Given the description of an element on the screen output the (x, y) to click on. 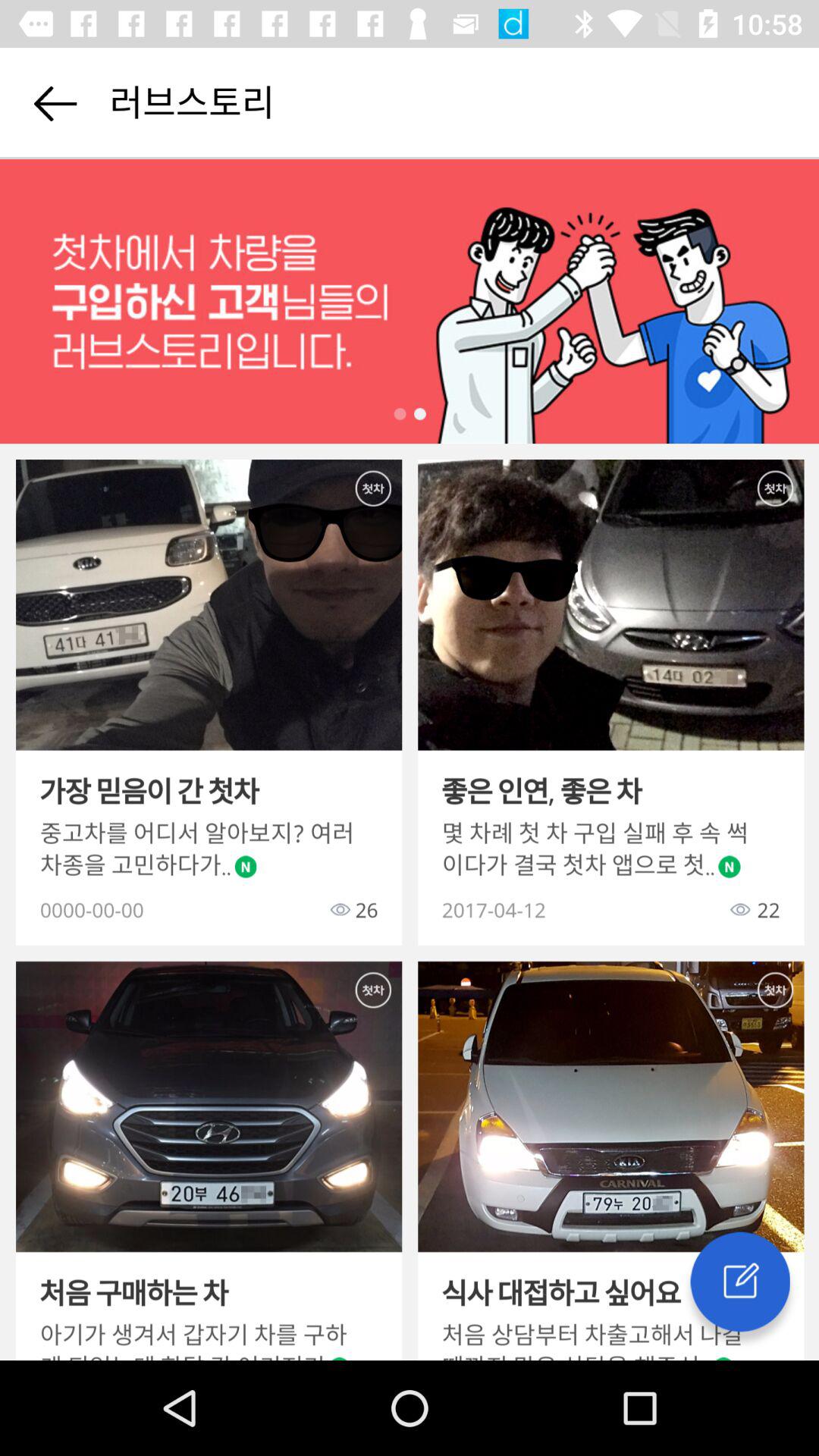
go back (54, 103)
